Given the description of an element on the screen output the (x, y) to click on. 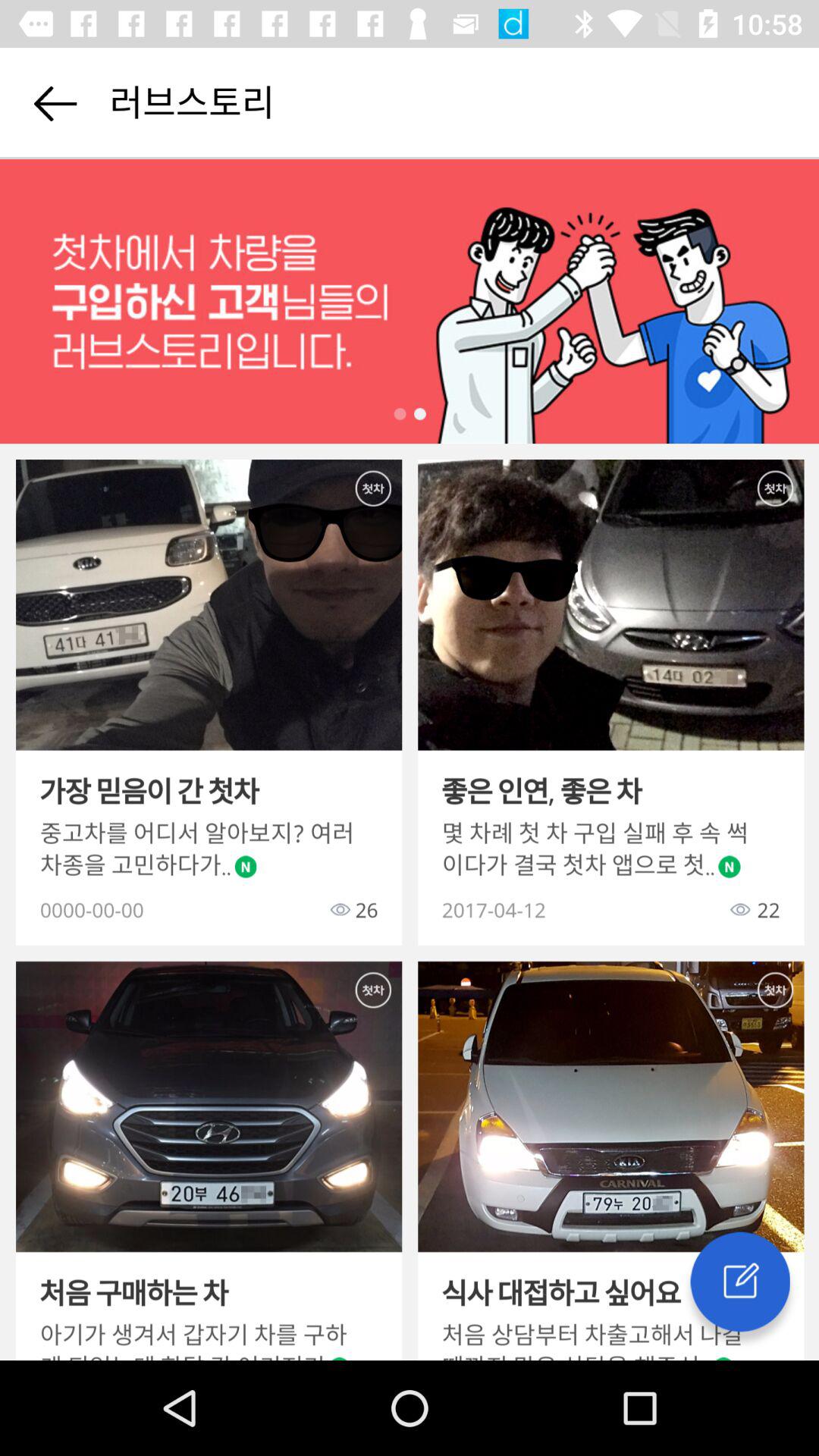
go back (54, 103)
